Given the description of an element on the screen output the (x, y) to click on. 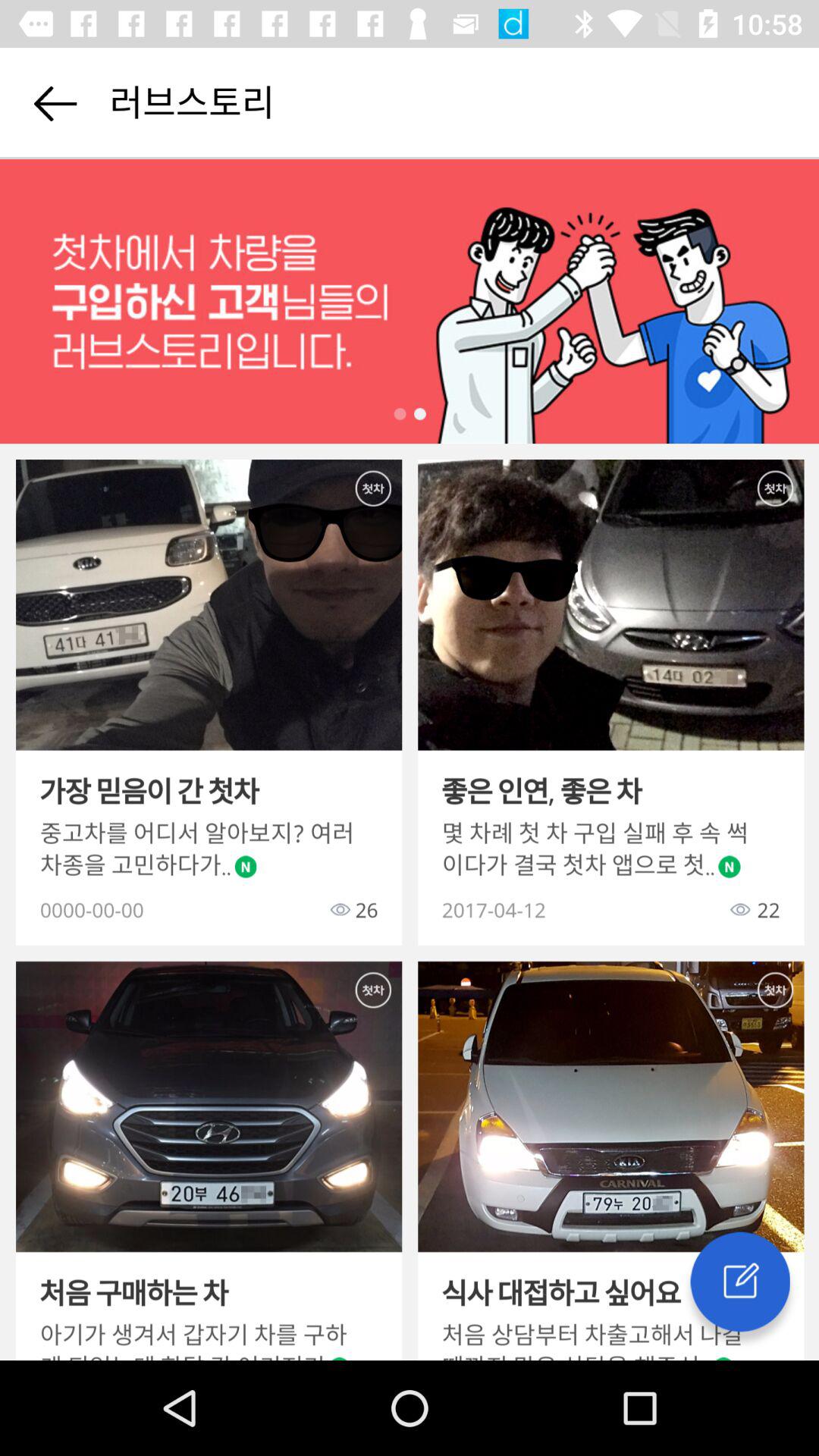
go back (54, 103)
